Given the description of an element on the screen output the (x, y) to click on. 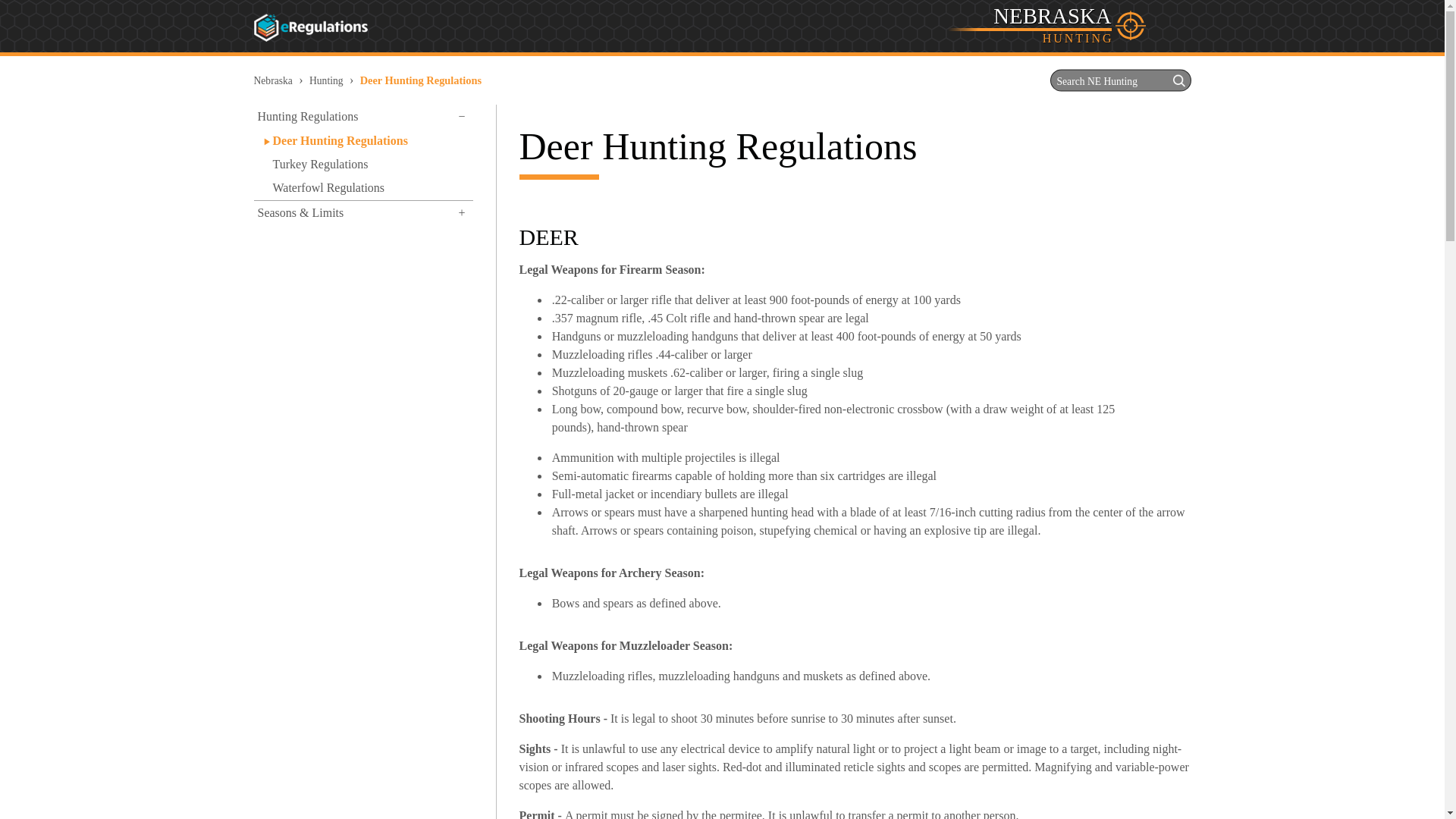
Hunting Regulations (362, 115)
Turkey Regulations (369, 164)
Hunting (325, 80)
Deer Hunting Regulations (369, 140)
Nebraska (272, 80)
Waterfowl Regulations (369, 187)
